Given the description of an element on the screen output the (x, y) to click on. 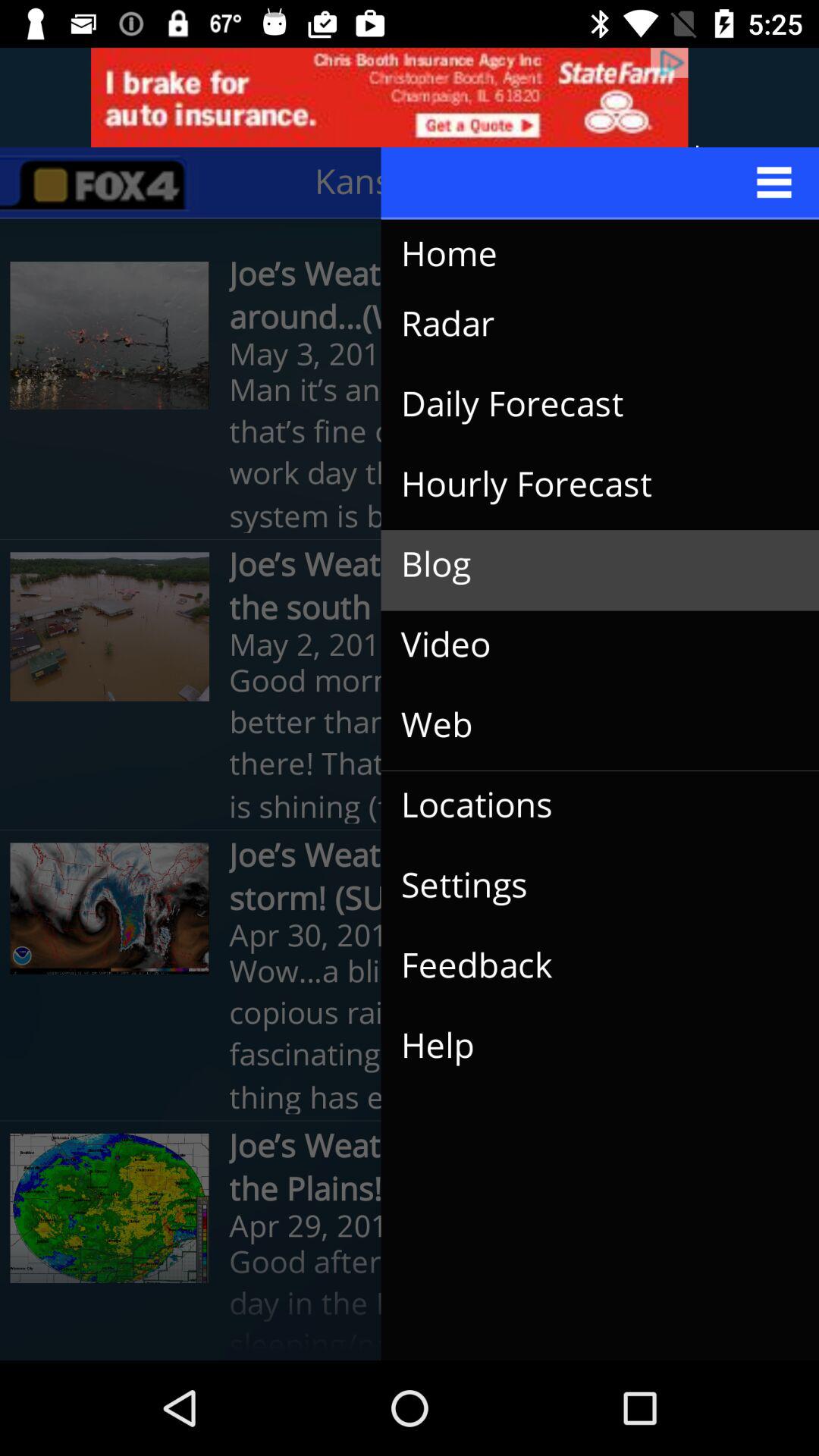
turn off the radar item (587, 324)
